Given the description of an element on the screen output the (x, y) to click on. 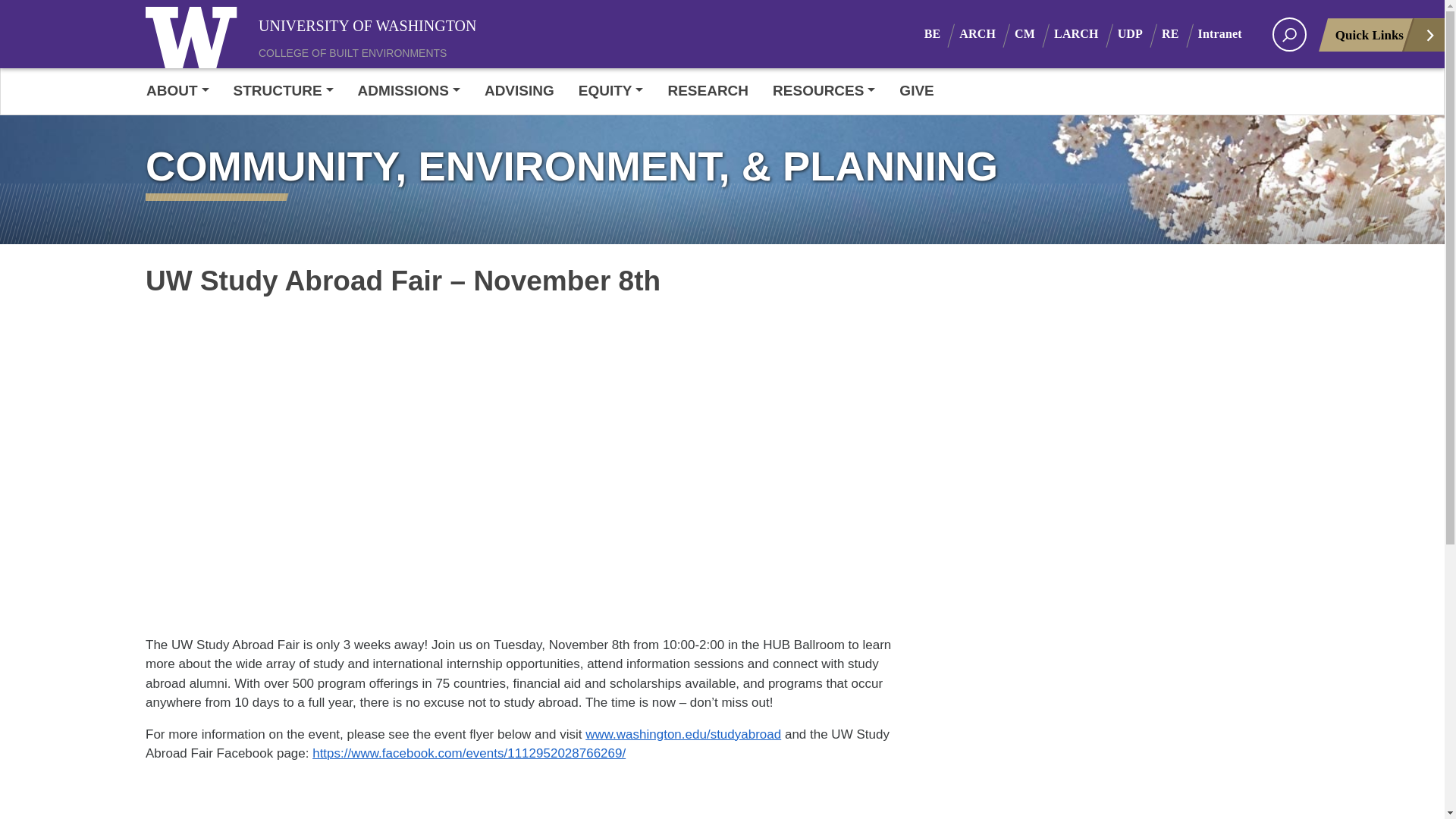
ADMISSIONS (408, 91)
BE (941, 33)
University of Washington Home (194, 33)
Intranet (1229, 33)
ARCH (986, 33)
University of Washington (194, 33)
UDP (1139, 33)
University of Washington Home (371, 23)
ABOUT (184, 91)
LARCH (1086, 33)
